Given the description of an element on the screen output the (x, y) to click on. 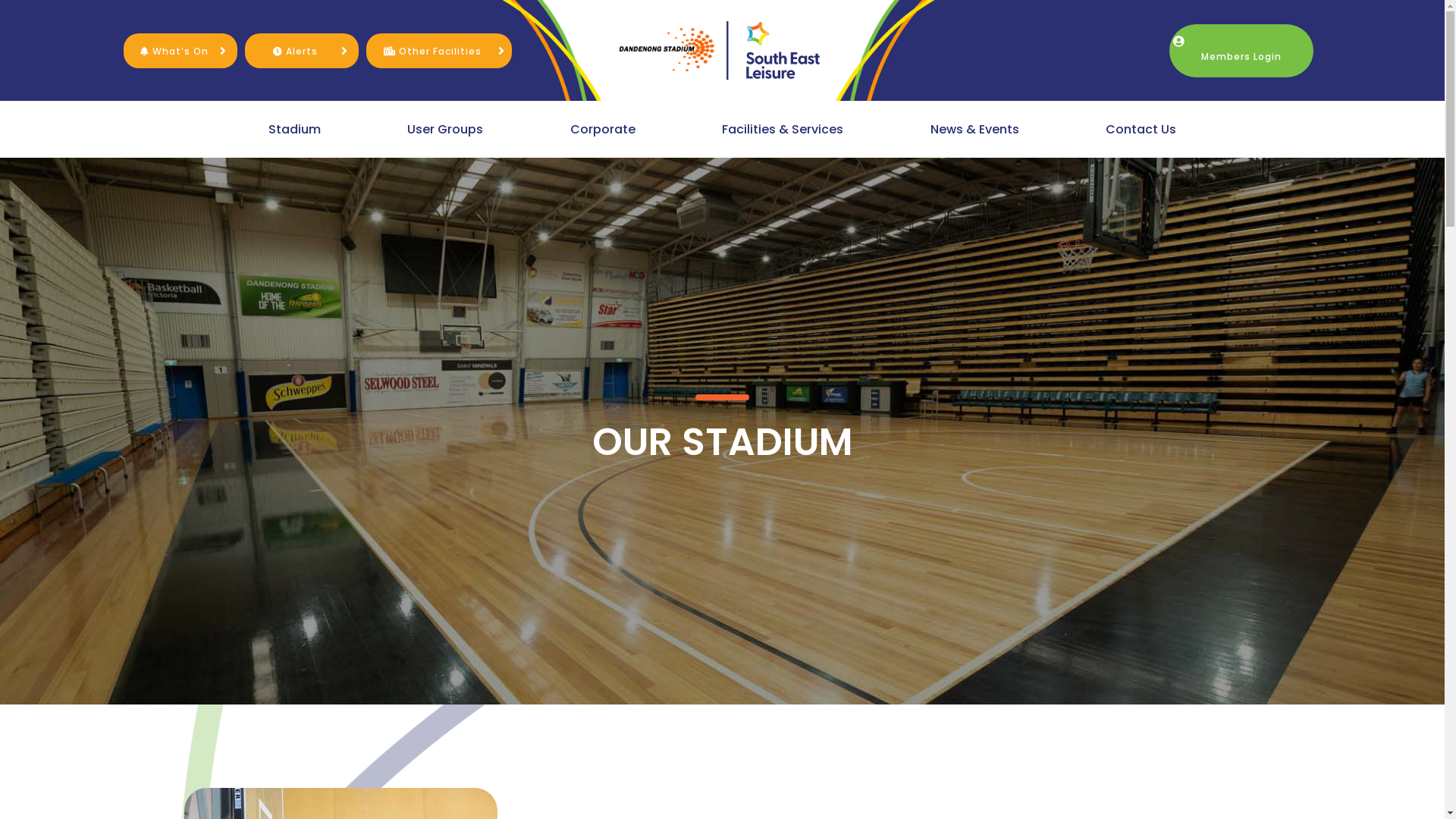
Contact Us Element type: text (1140, 129)
Facilities & Services Element type: text (782, 129)
Members Login Element type: text (1241, 50)
User Groups Element type: text (444, 129)
News & Events Element type: text (974, 129)
Corporate Element type: text (602, 129)
Stadium Element type: text (294, 129)
Other Facilities Element type: text (432, 49)
Alerts Element type: text (295, 49)
